Given the description of an element on the screen output the (x, y) to click on. 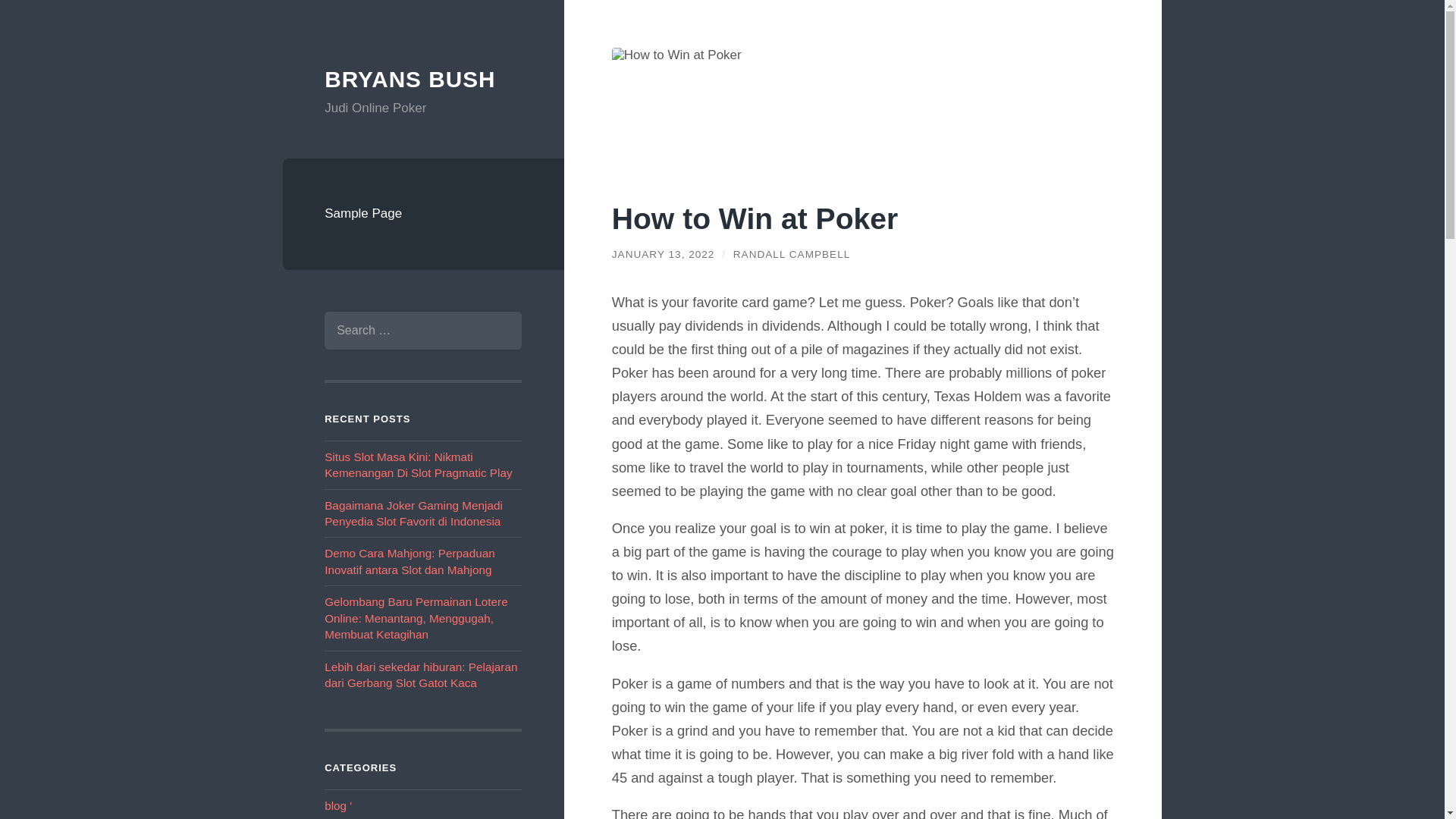
Search (498, 330)
Sample Page (422, 213)
Search (498, 330)
Search (498, 330)
Posts by Randall Campbell (791, 254)
blog ' (338, 805)
